Given the description of an element on the screen output the (x, y) to click on. 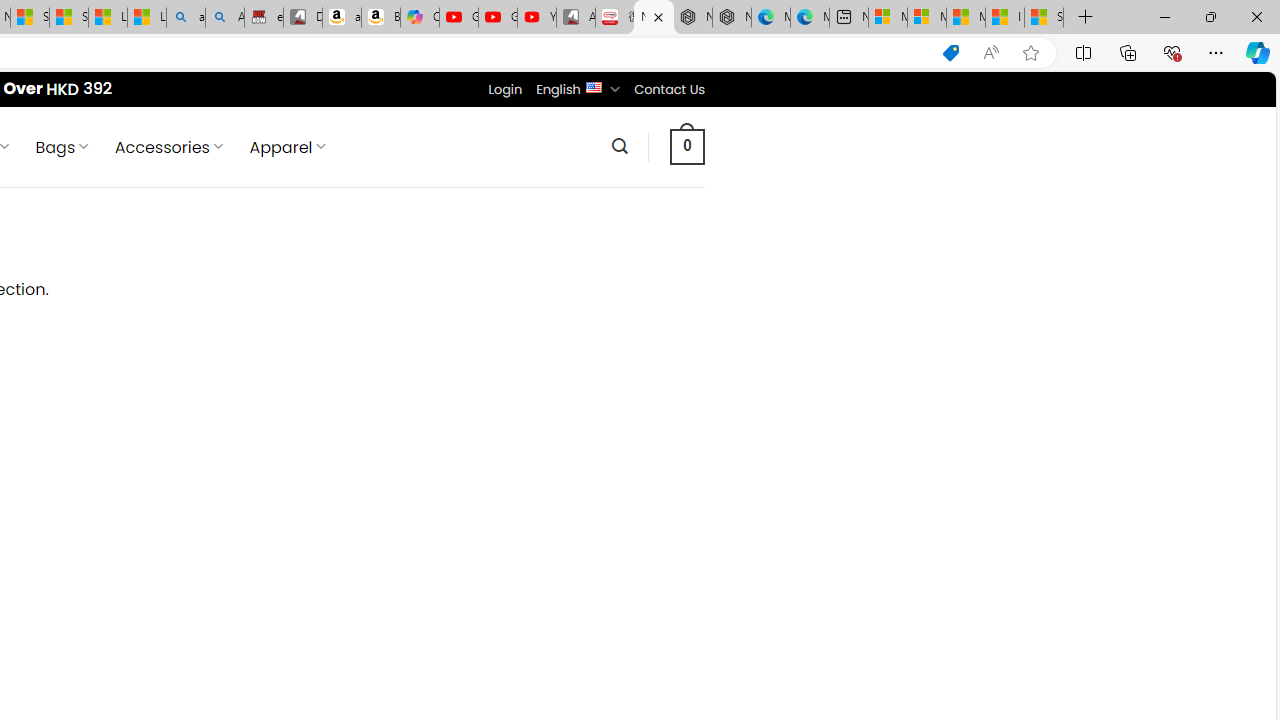
Nordace - Luggage (653, 17)
Login (505, 89)
Copilot (419, 17)
English (592, 86)
Amazon Echo Dot PNG - Search Images (225, 17)
  0   (687, 146)
 0  (687, 146)
